Given the description of an element on the screen output the (x, y) to click on. 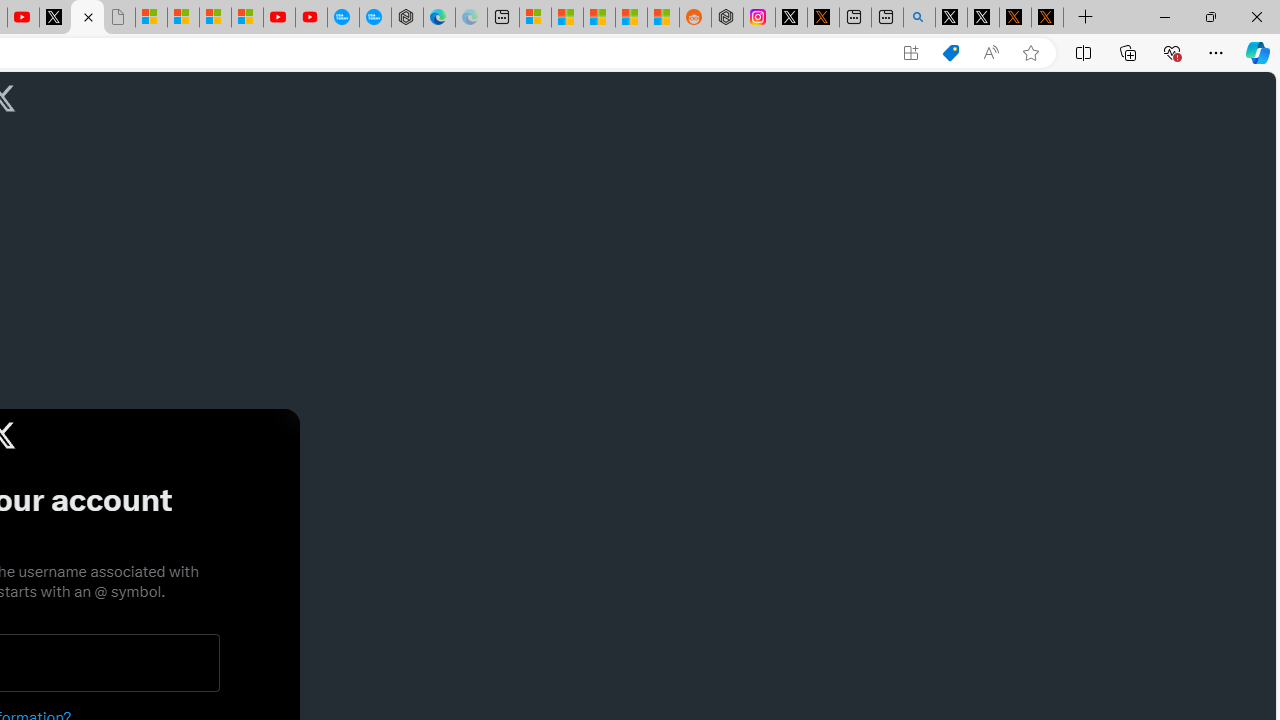
help.x.com | 524: A timeout occurred (822, 17)
Log in to X / X (791, 17)
App available. Install X (910, 53)
